Given the description of an element on the screen output the (x, y) to click on. 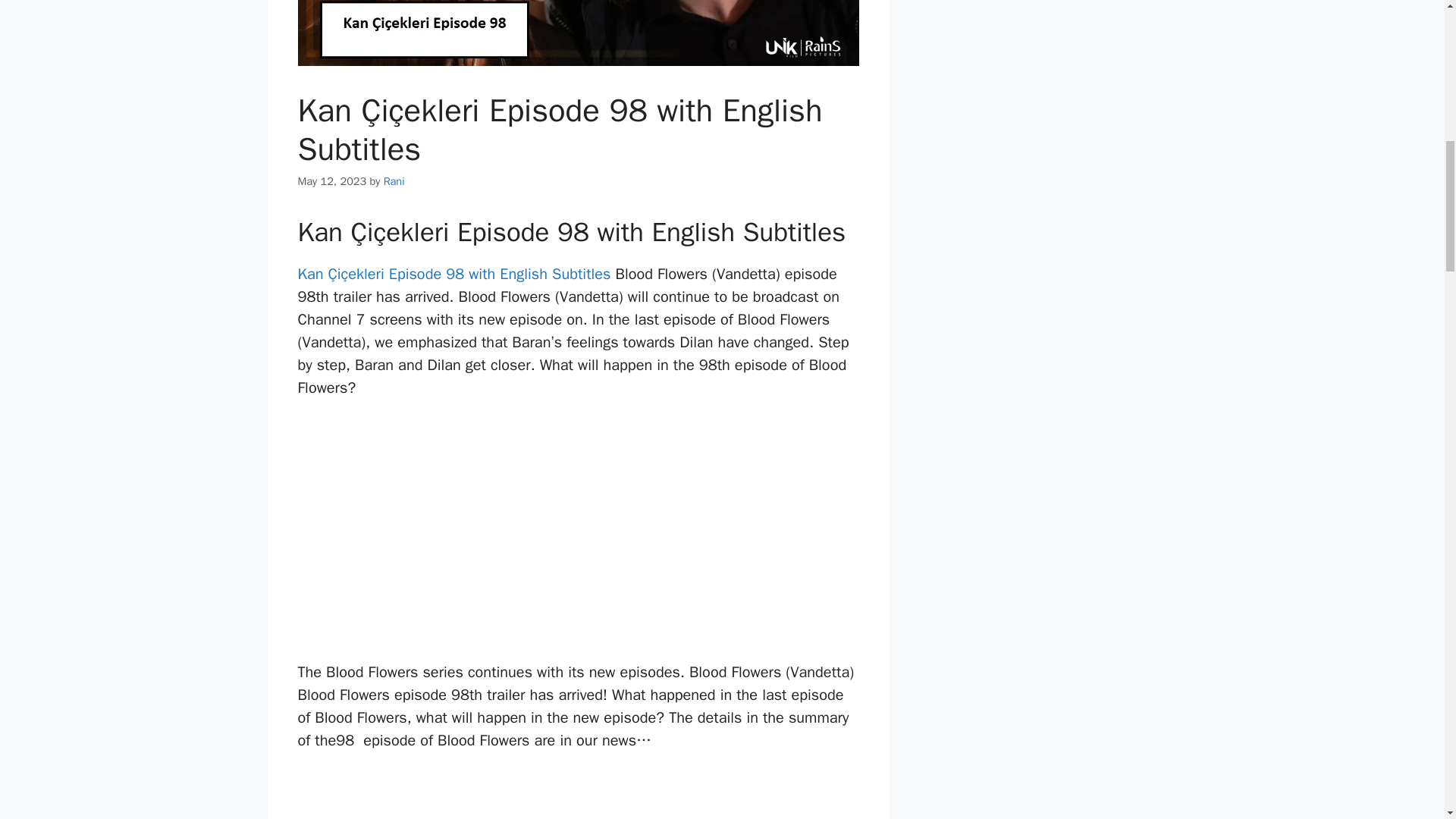
Rani (394, 181)
View all posts by Rani (394, 181)
Advertisement (581, 796)
Advertisement (581, 536)
